Given the description of an element on the screen output the (x, y) to click on. 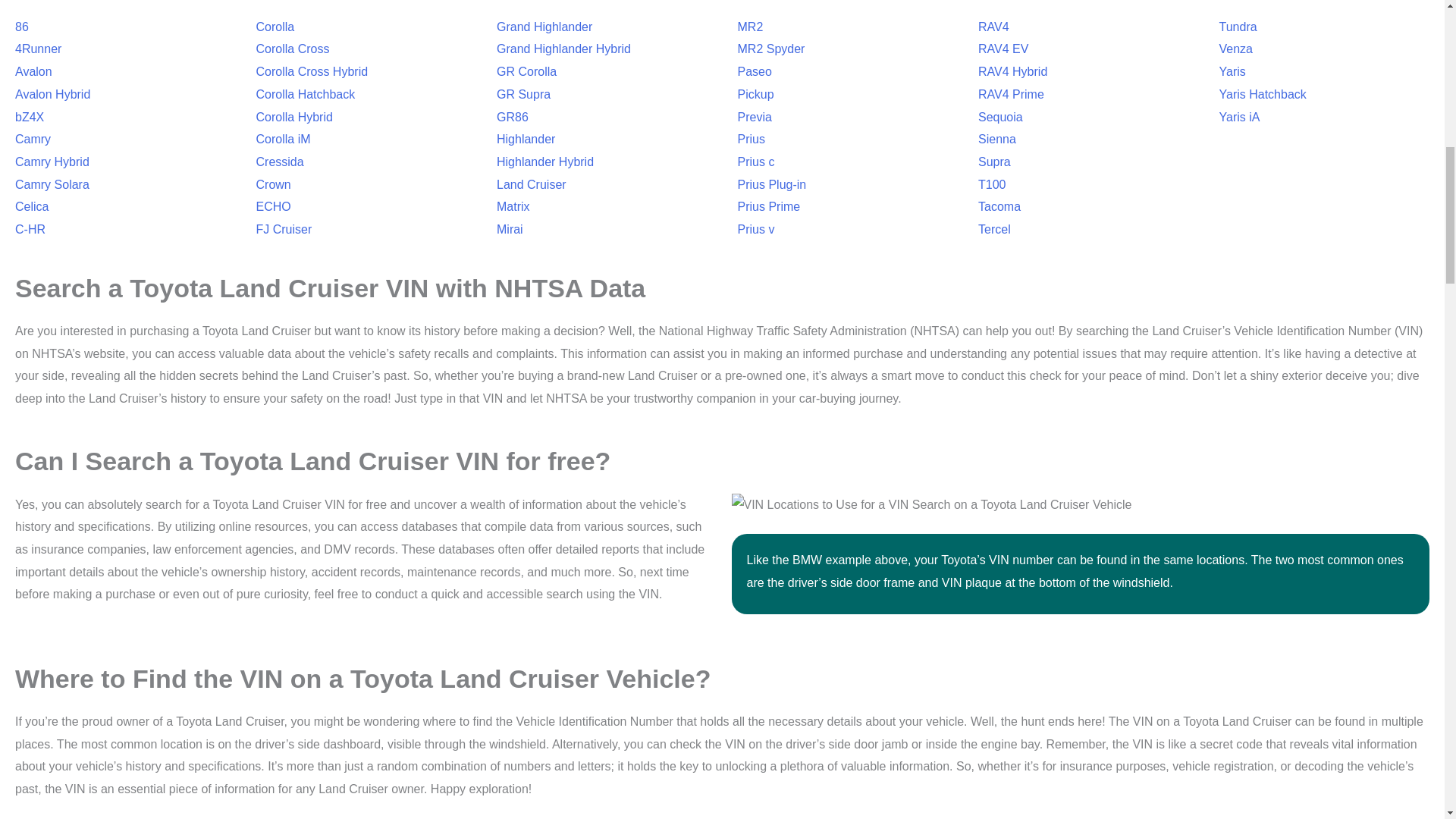
Corolla iM (283, 138)
Corolla Hatchback (305, 93)
Corolla (275, 26)
Corolla Cross Hybrid (312, 71)
Celica (31, 205)
4Runner (37, 48)
86 (21, 26)
bZ4X (28, 116)
Camry Hybrid (51, 161)
Camry (32, 138)
Corolla Cross (293, 48)
Avalon (33, 71)
Crown (273, 184)
Corolla Hybrid (294, 116)
Camry Solara (51, 184)
